Given the description of an element on the screen output the (x, y) to click on. 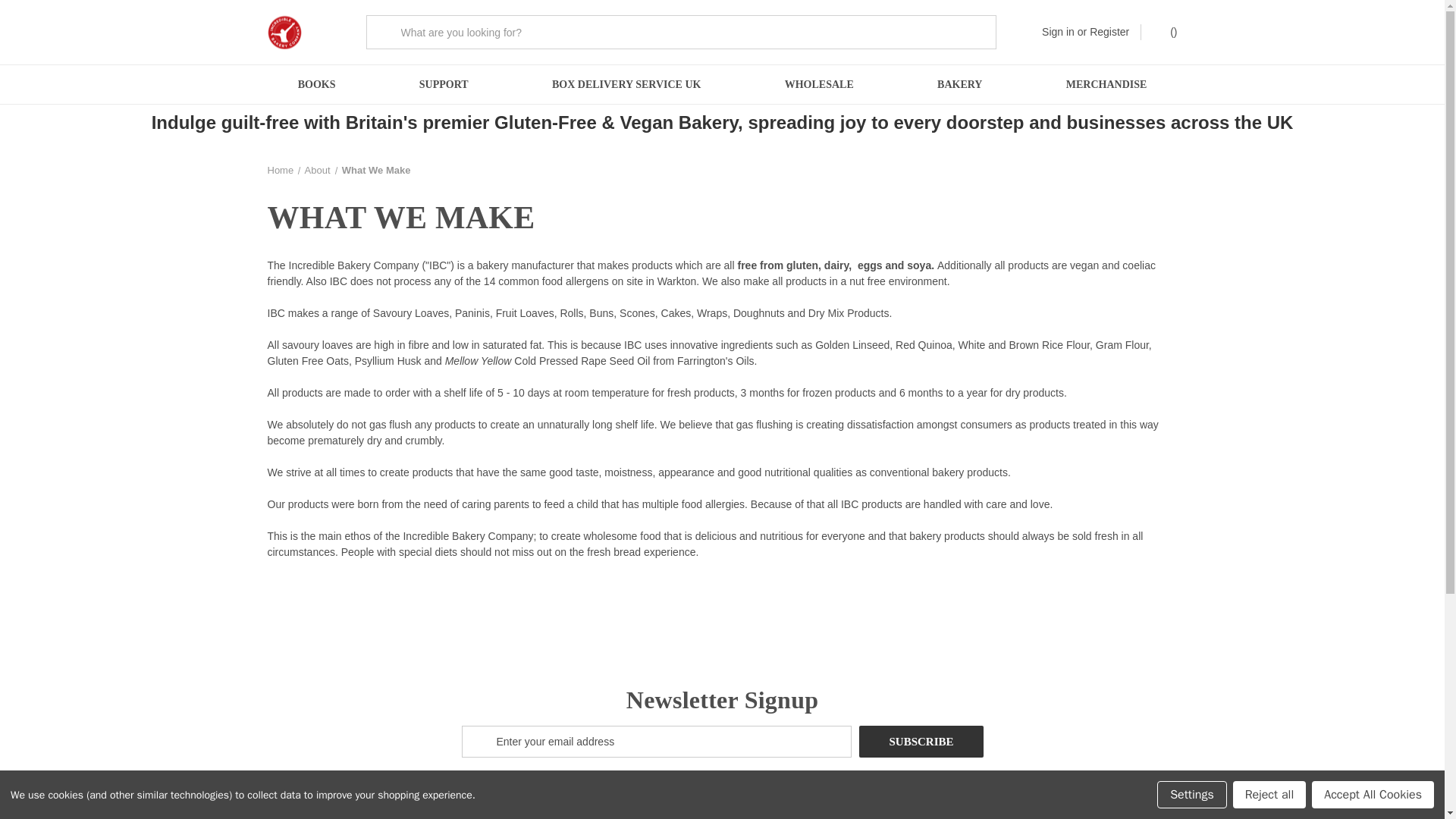
What We Make (376, 170)
Subscribe (920, 741)
About (317, 170)
BAKERY (960, 84)
Register (1109, 32)
Home (280, 170)
SUPPORT (444, 84)
BOOKS (316, 84)
MERCHANDISE (1107, 84)
Subscribe (920, 741)
